Given the description of an element on the screen output the (x, y) to click on. 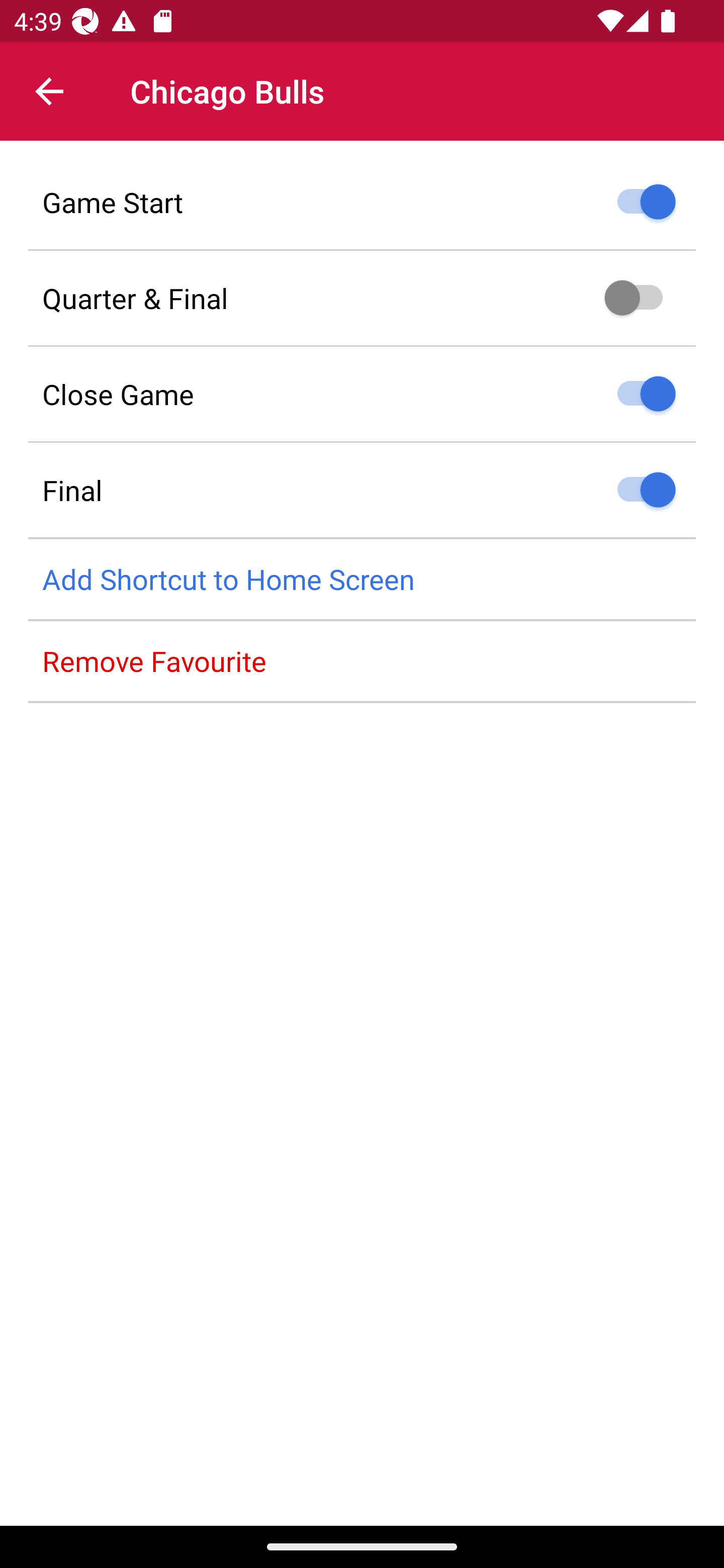
Navigate up (49, 91)
Add Shortcut to Home Screen (362, 579)
Remove Favourite (362, 661)
